Given the description of an element on the screen output the (x, y) to click on. 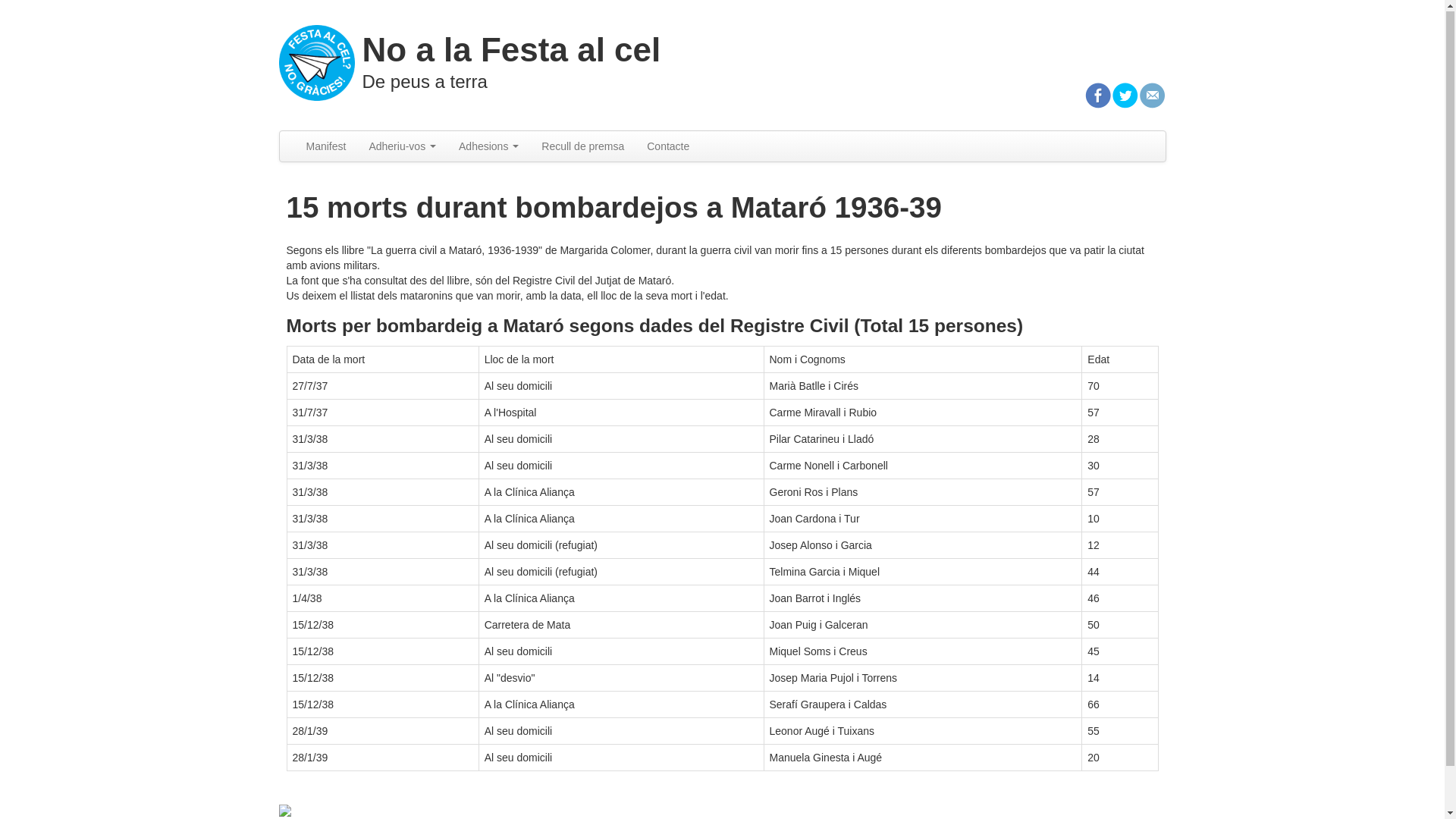
Contacte Element type: text (667, 146)
No a la Festa al cel Element type: text (511, 50)
Manifest Element type: text (325, 146)
Skip to content Element type: text (35, 18)
Inici Element type: hover (316, 62)
Adhesions Element type: text (488, 146)
Adheriu-vos Element type: text (402, 146)
Recull de premsa Element type: text (582, 146)
Skip to navigation Element type: text (42, 18)
